Given the description of an element on the screen output the (x, y) to click on. 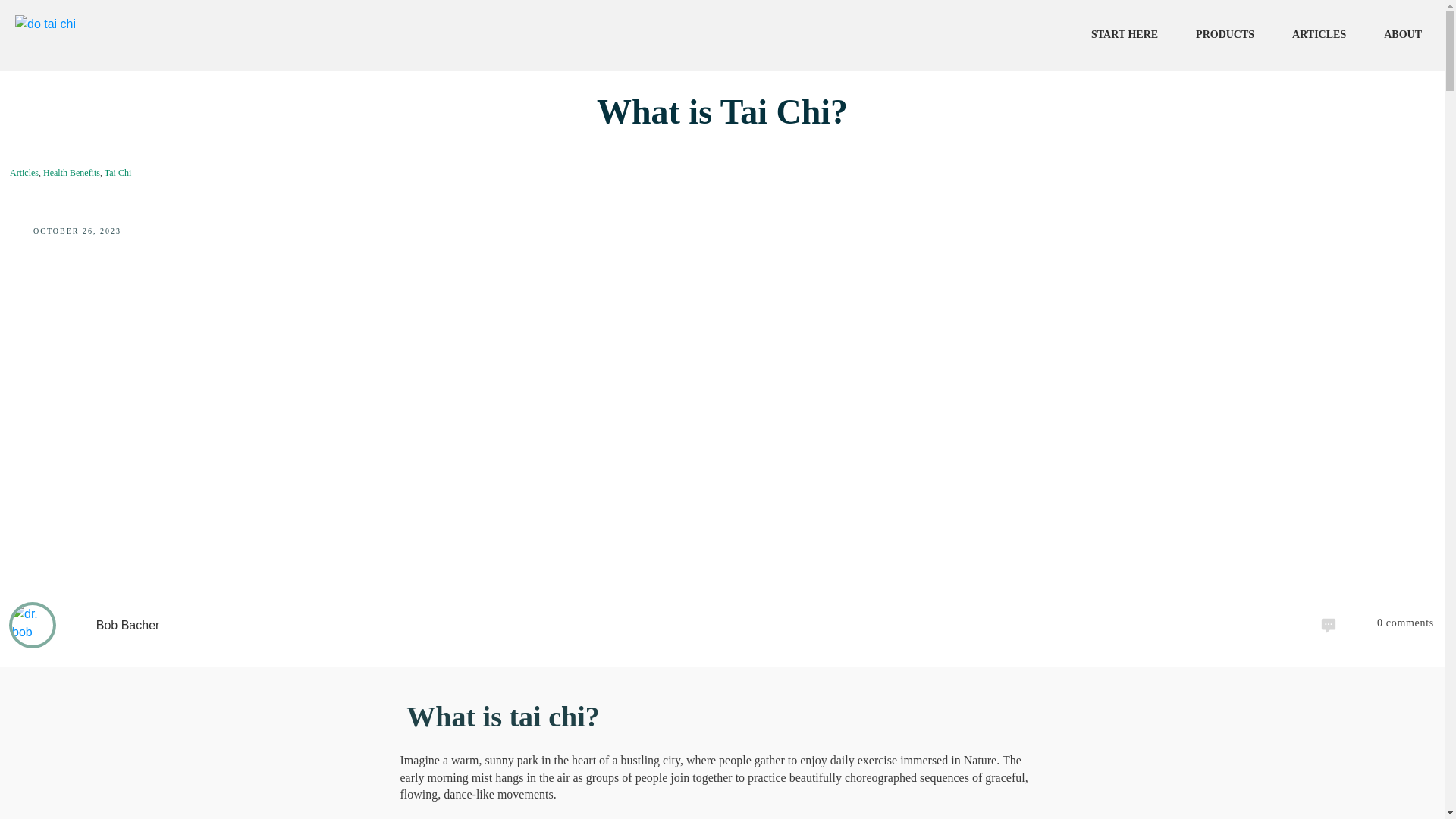
Health Benefits (71, 172)
Dr. Bob Bacher (31, 625)
Health Benefits (71, 172)
Articles (24, 172)
START HERE (1123, 34)
Articles (24, 172)
Tai Chi (118, 172)
ABOUT (1403, 34)
PRODUCTS (1224, 34)
What is Tai Chi? (721, 111)
